Given the description of an element on the screen output the (x, y) to click on. 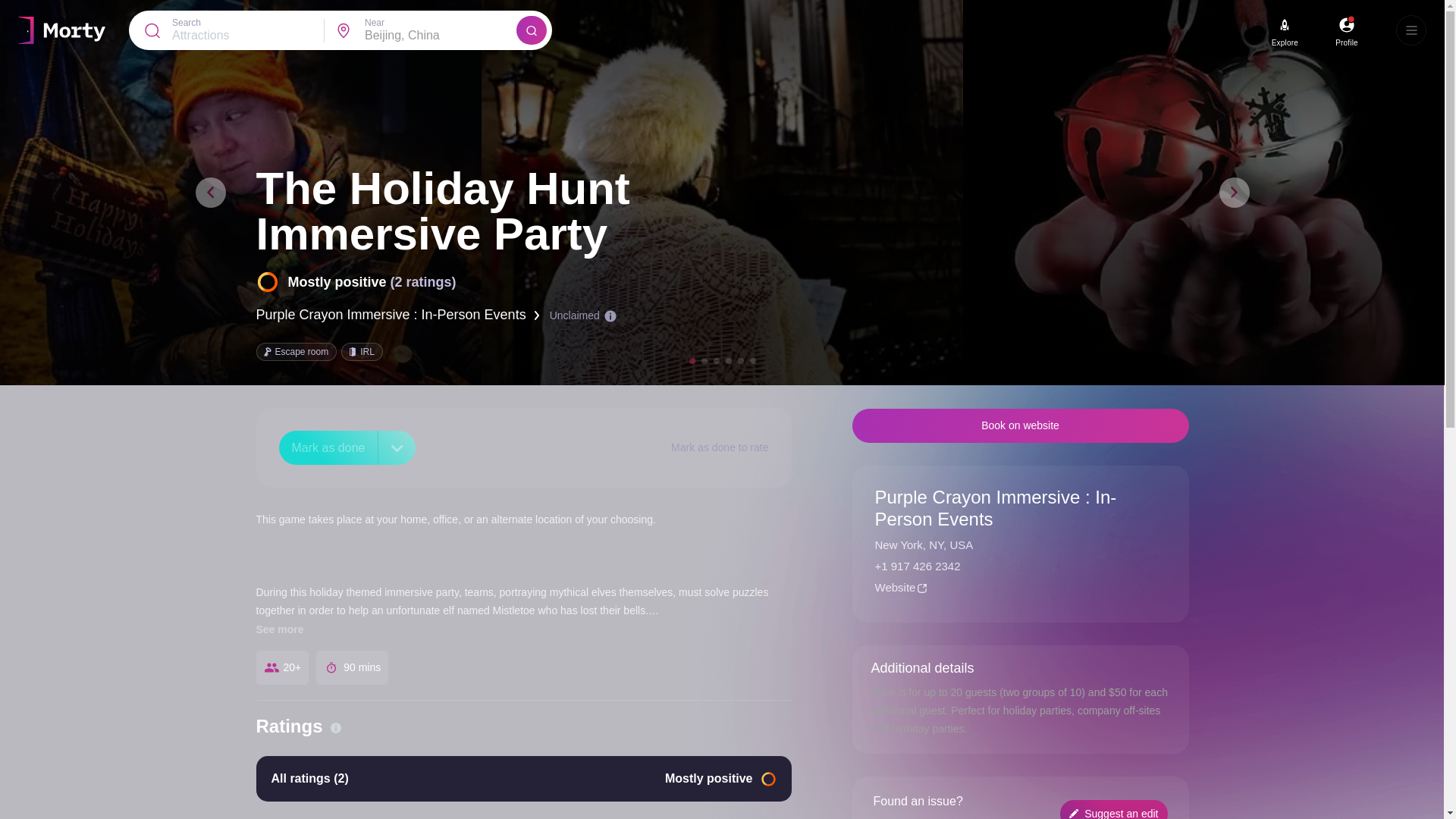
Mark as done (328, 447)
Purple Crayon Immersive : In-Person Events (397, 314)
Beijing, China (440, 35)
See more (280, 628)
Explore (1284, 42)
Beijing, China (440, 35)
